Given the description of an element on the screen output the (x, y) to click on. 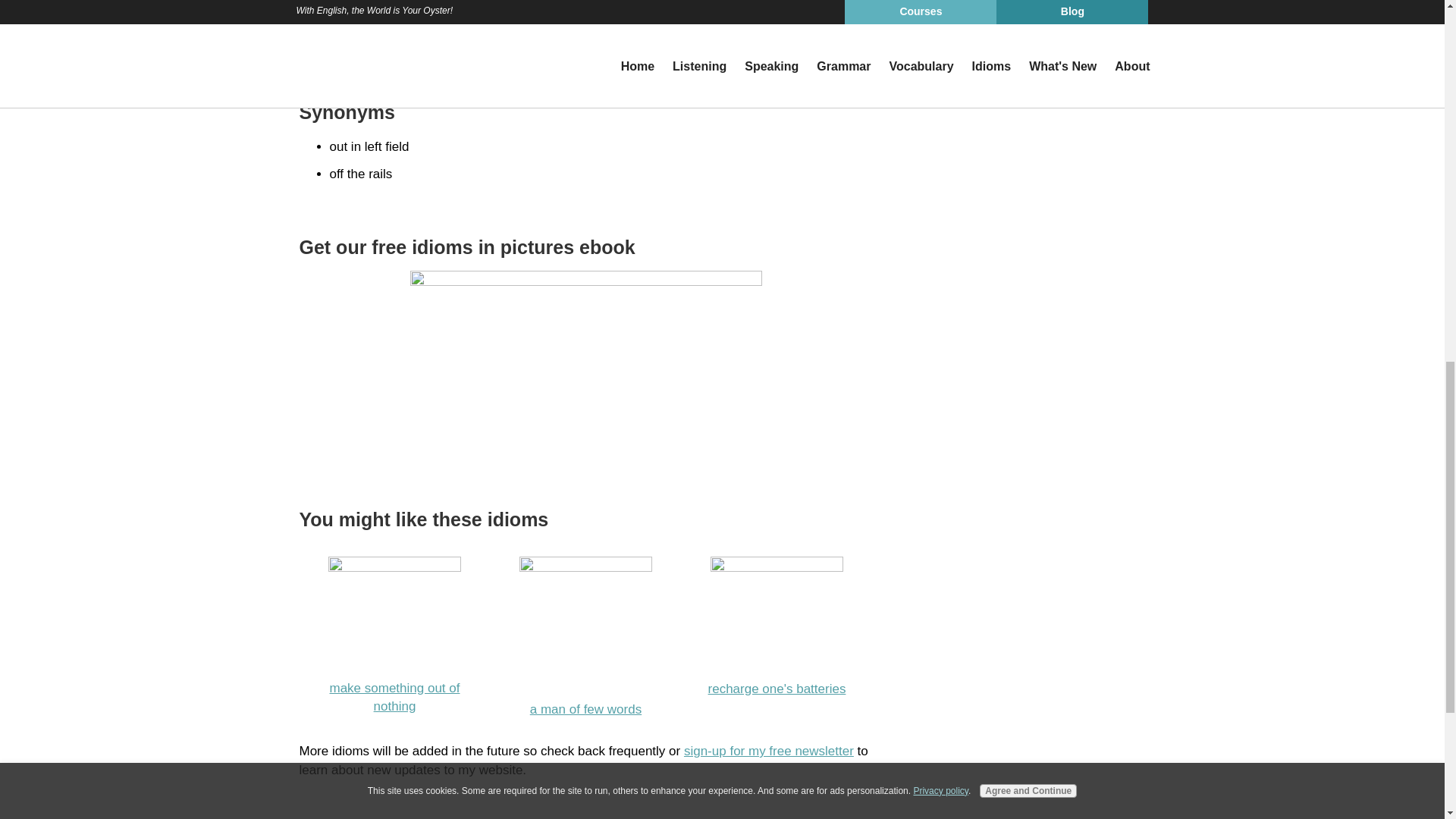
Off the wall (585, 637)
